Given the description of an element on the screen output the (x, y) to click on. 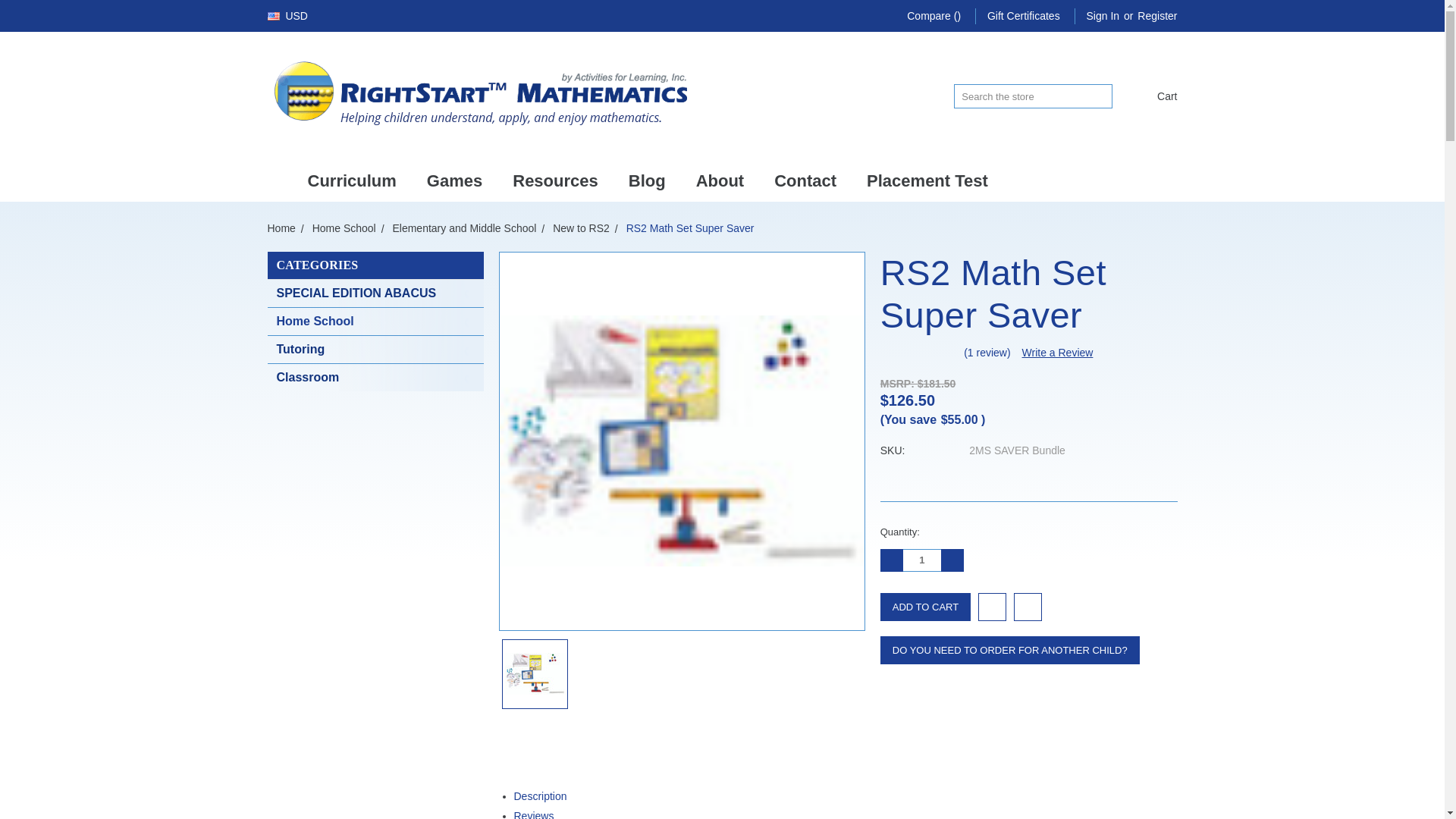
RS2 Math Set Super Saver  (535, 673)
Search (1100, 96)
Add to Cart (925, 606)
Search (1100, 96)
1 (921, 559)
USD (293, 15)
Compare (933, 16)
RS2 Math Set Super Saver  (681, 440)
